Given the description of an element on the screen output the (x, y) to click on. 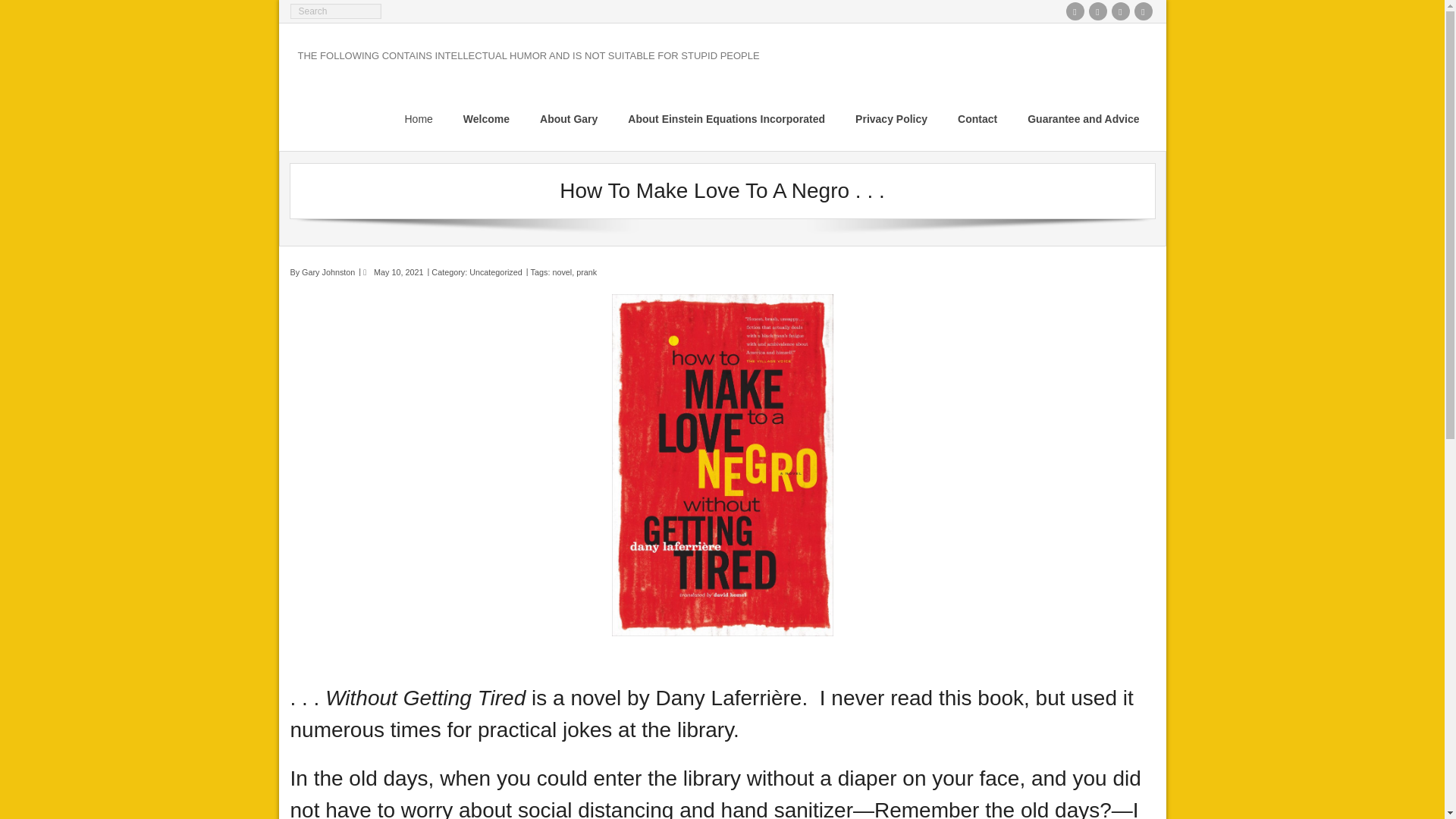
Uncategorized (495, 271)
Gary Johnston (328, 271)
Privacy Policy (891, 118)
May 10, 2021 (398, 271)
How To Make Love To A Negro . . . (398, 271)
Home (419, 118)
View all posts by Gary Johnston (328, 271)
About Gary (568, 118)
Search (25, 10)
